Given the description of an element on the screen output the (x, y) to click on. 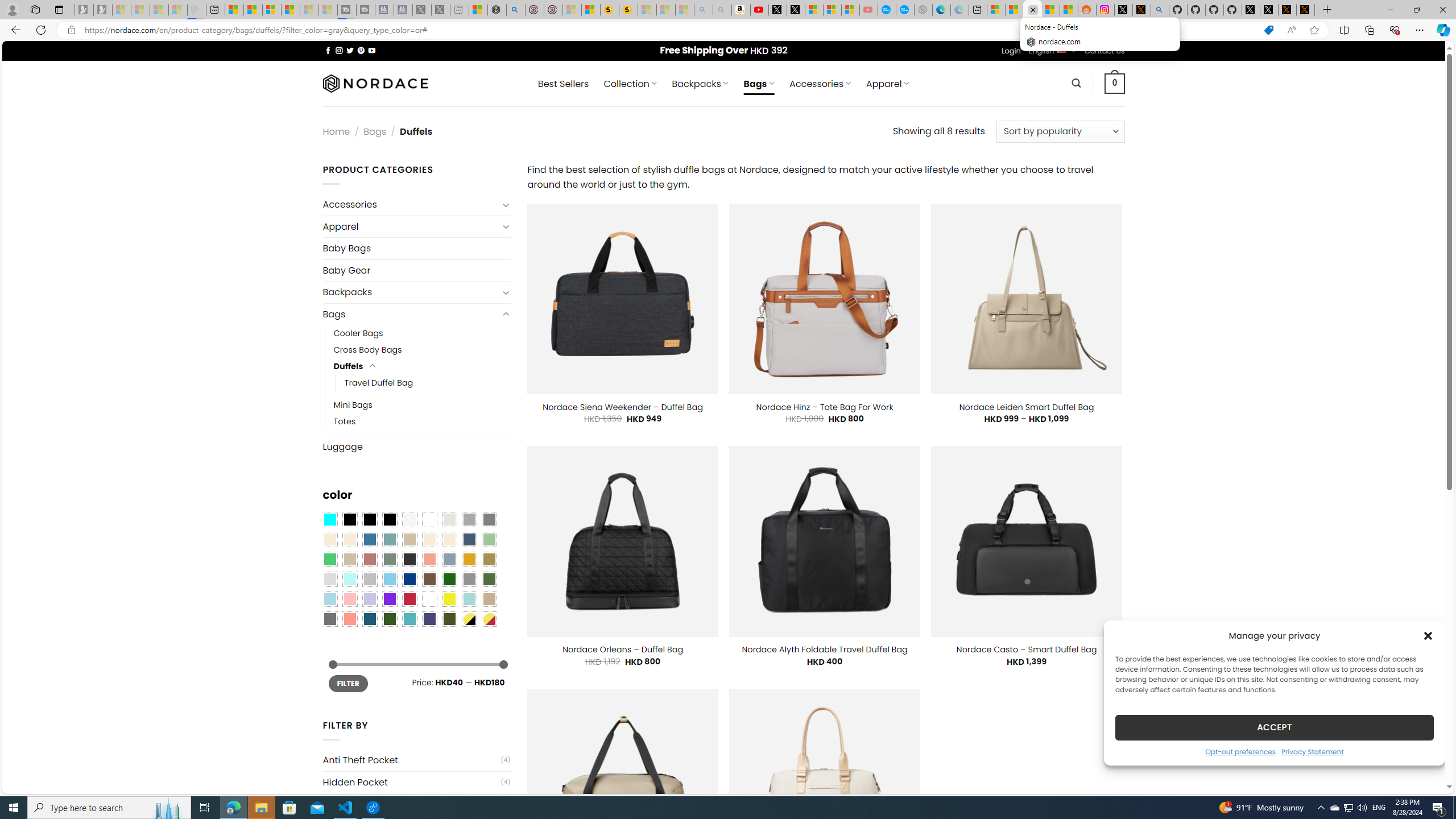
Light Green (488, 539)
Hale Navy (468, 539)
Gray (468, 579)
Travel Duffel Bag (378, 382)
Totes (422, 420)
